Given the description of an element on the screen output the (x, y) to click on. 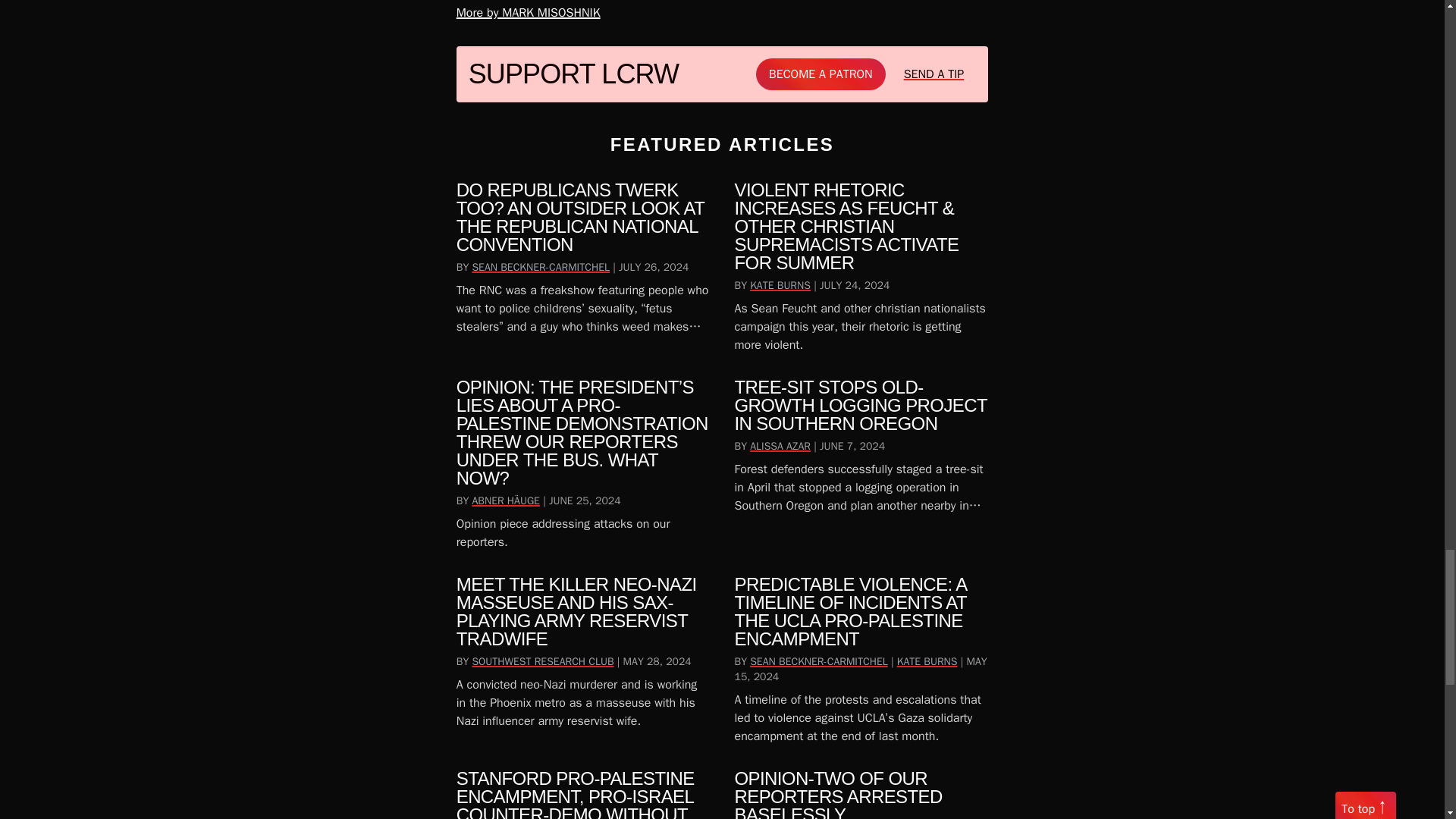
SEND A TIP (933, 73)
More by MARK MISOSHNIK (699, 13)
SEAN BECKNER-CARMITCHEL (540, 267)
BECOME A PATRON (820, 74)
